Given the description of an element on the screen output the (x, y) to click on. 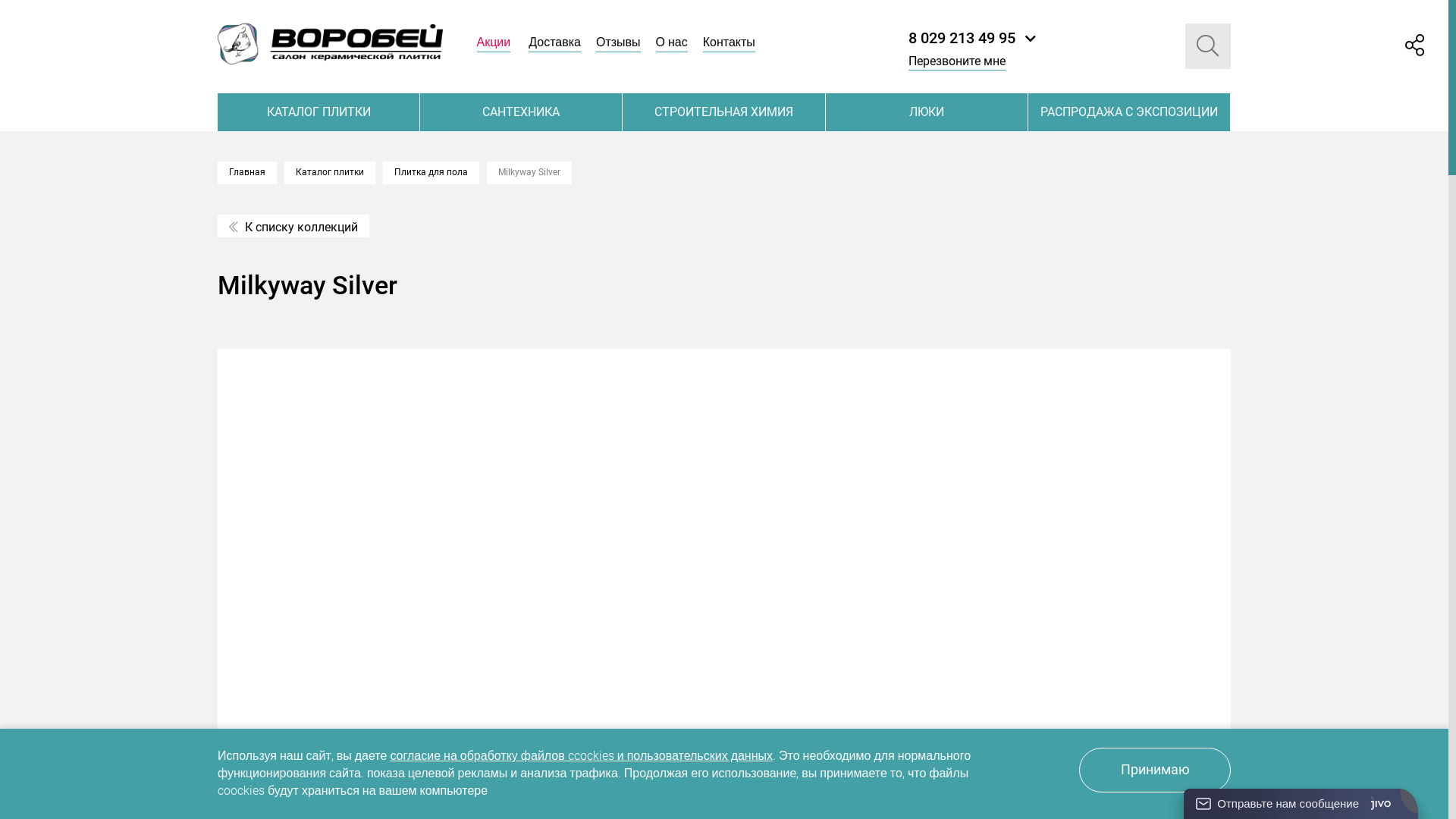
8 029 213 49 95 Element type: text (971, 38)
